Given the description of an element on the screen output the (x, y) to click on. 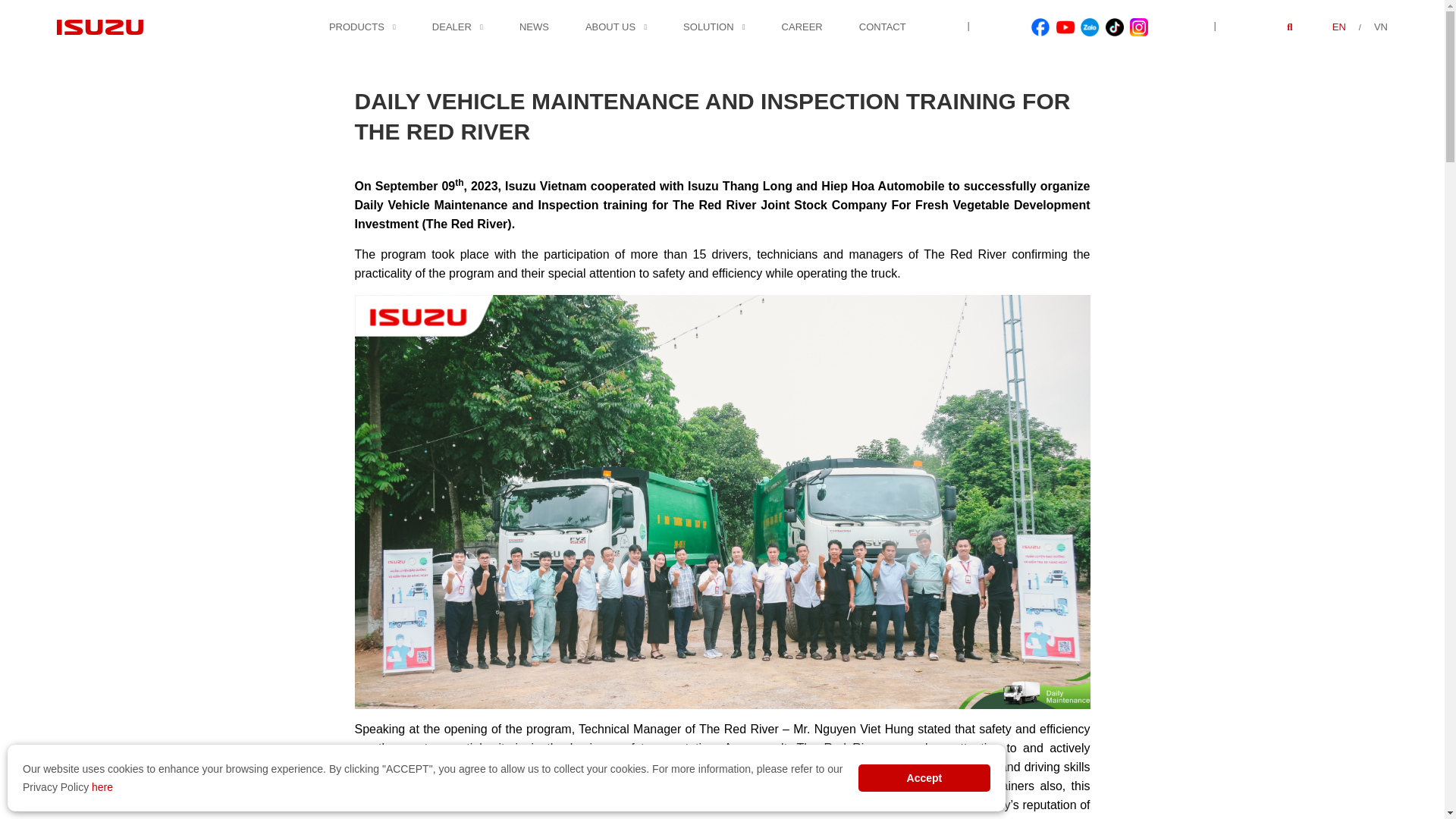
SOLUTION (707, 27)
Accept (924, 777)
ISUZU (100, 27)
CONTACT (882, 27)
here (102, 787)
DEALER (451, 27)
PRODUCTS (356, 27)
ABOUT US (609, 27)
homepage (302, 17)
HOMEPAGE (302, 17)
